Given the description of an element on the screen output the (x, y) to click on. 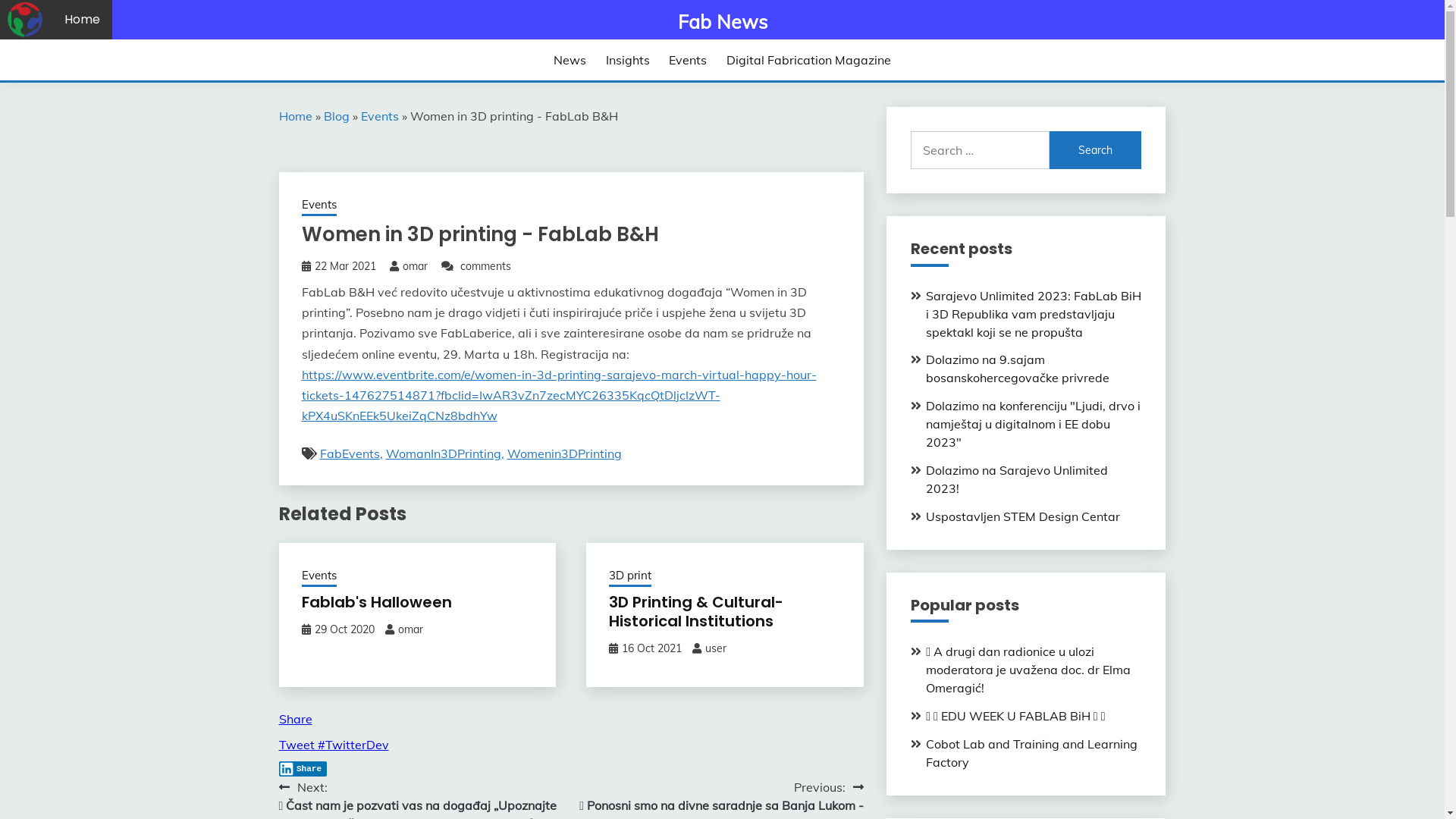
Share Element type: text (295, 718)
3D Printing & Cultural-Historical Institutions Element type: text (695, 611)
user Element type: text (715, 648)
Share Element type: text (303, 768)
Womenin3DPrinting Element type: text (563, 453)
Cobot Lab and Training and Learning Factory Element type: text (1031, 752)
Events Element type: text (379, 115)
22 Mar 2021 Element type: text (344, 266)
Digital Fabrication Magazine Element type: text (808, 59)
Events Element type: text (318, 576)
omar Element type: text (413, 266)
Home Element type: text (82, 19)
Events Element type: text (318, 206)
Search Element type: text (1095, 150)
Dolazimo na Sarajevo Unlimited 2023! Element type: text (1016, 478)
Insights Element type: text (627, 59)
29 Oct 2020 Element type: text (343, 629)
omar Element type: text (409, 629)
FabEvents Element type: text (351, 453)
News Element type: text (569, 59)
Tweet #TwitterDev Element type: text (334, 744)
Fablab's Halloween Element type: text (376, 601)
3D print Element type: text (629, 576)
WomanIn3DPrinting Element type: text (444, 453)
Events Element type: text (687, 59)
Search Element type: text (832, 18)
16 Oct 2021 Element type: text (651, 648)
Uspostavljen STEM Design Centar Element type: text (1022, 516)
Blog Element type: text (335, 115)
Home Element type: text (295, 115)
comments Element type: text (484, 266)
